Given the description of an element on the screen output the (x, y) to click on. 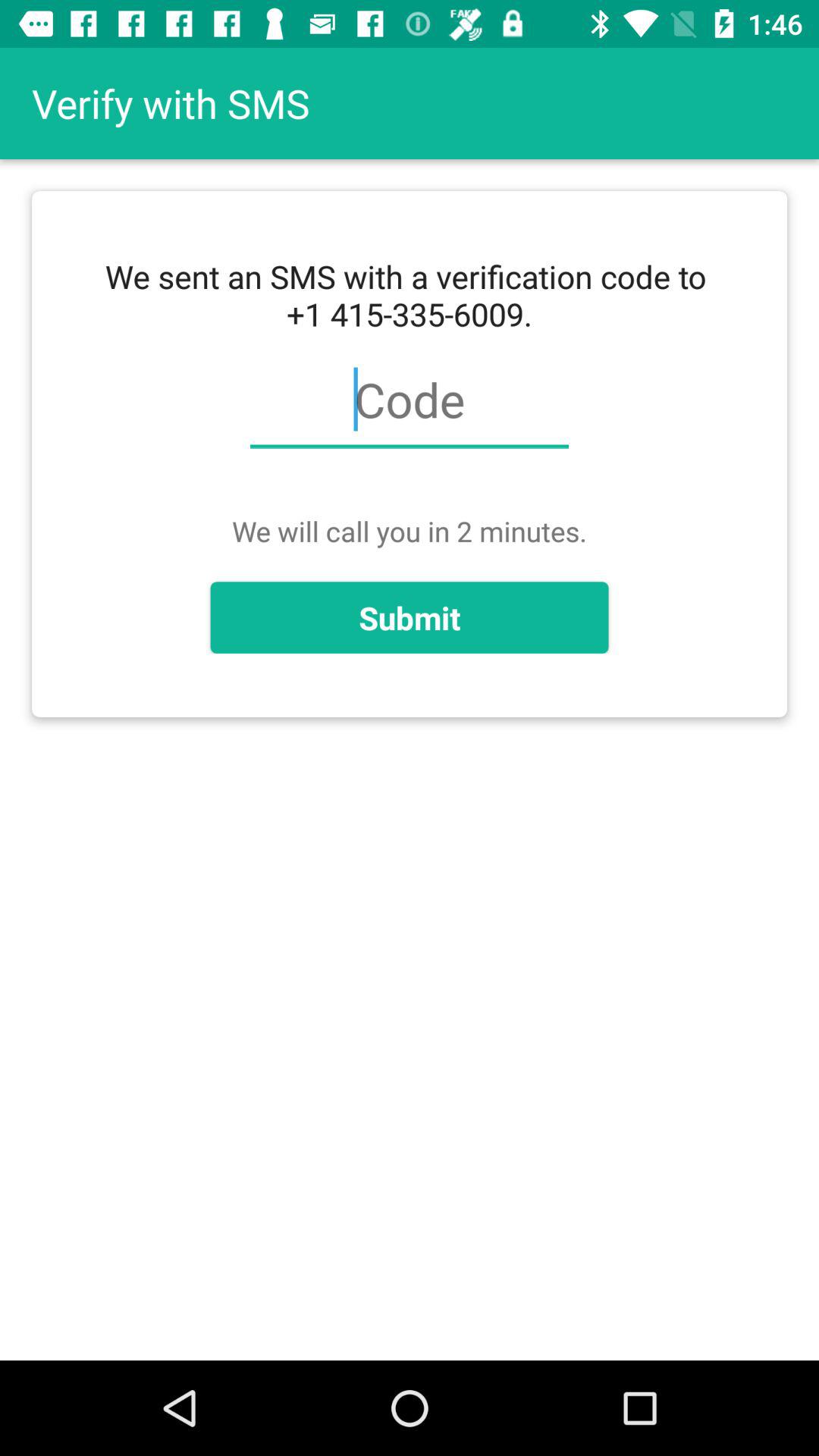
tap icon above the we will call icon (409, 407)
